Given the description of an element on the screen output the (x, y) to click on. 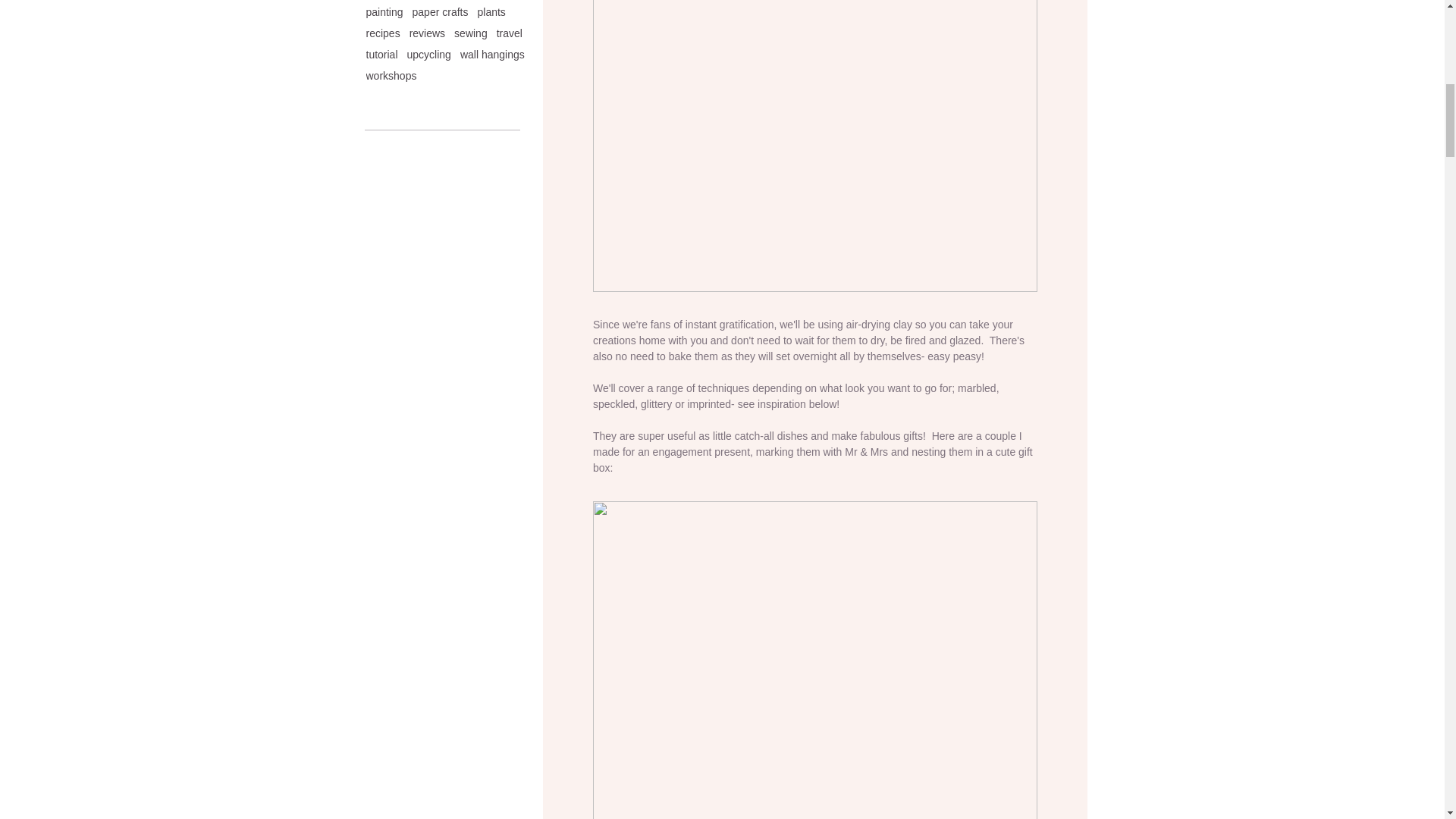
workshops (390, 75)
paper crafts (440, 11)
plants (491, 11)
recipes (381, 33)
upcycling (429, 54)
painting (384, 11)
tutorial (381, 54)
wall hangings (492, 54)
sewing (470, 33)
travel (509, 33)
reviews (427, 33)
